Given the description of an element on the screen output the (x, y) to click on. 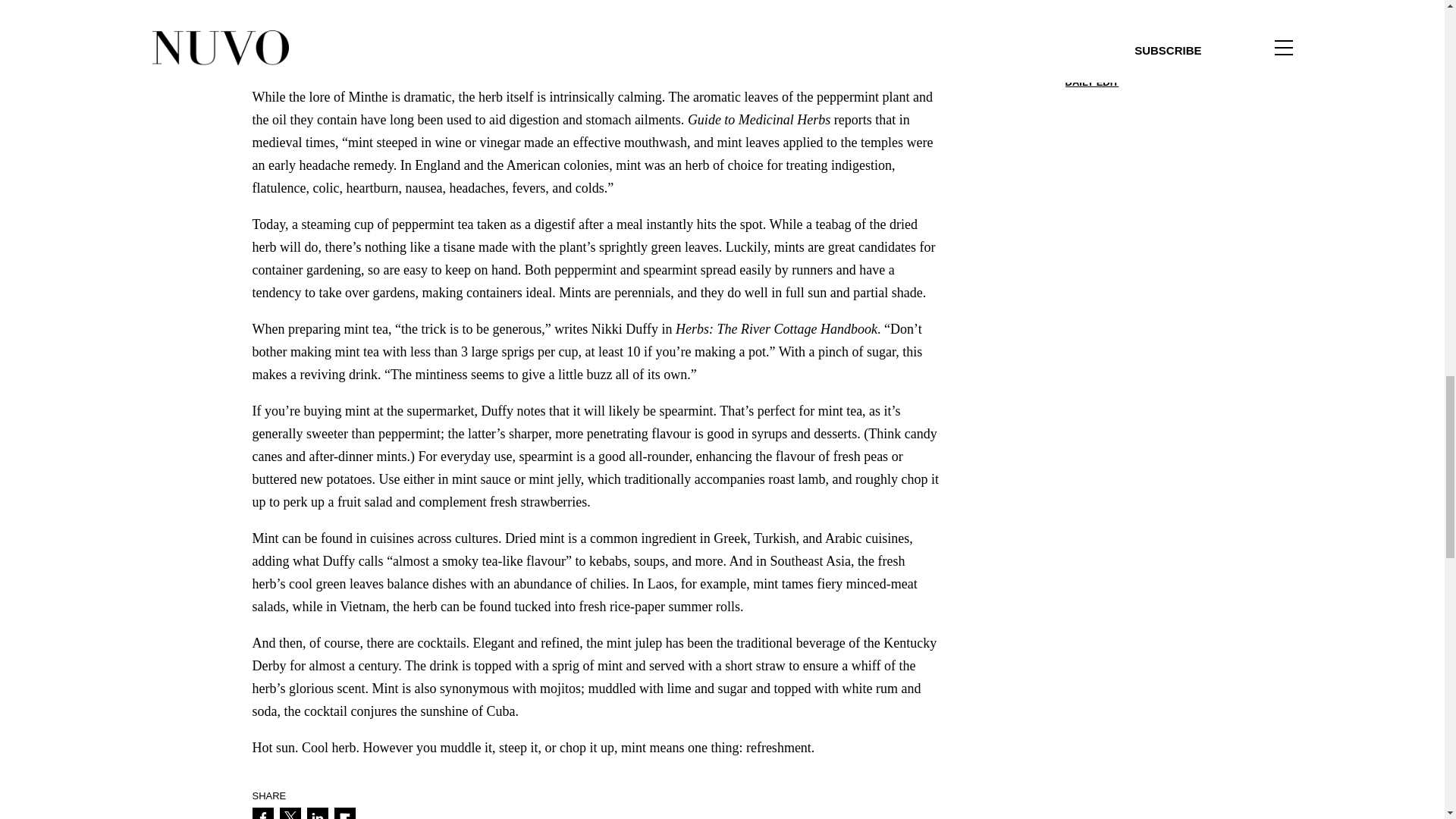
Twitter (289, 813)
Facebook (262, 813)
LinkedIn (316, 813)
Flipboard (344, 813)
